Given the description of an element on the screen output the (x, y) to click on. 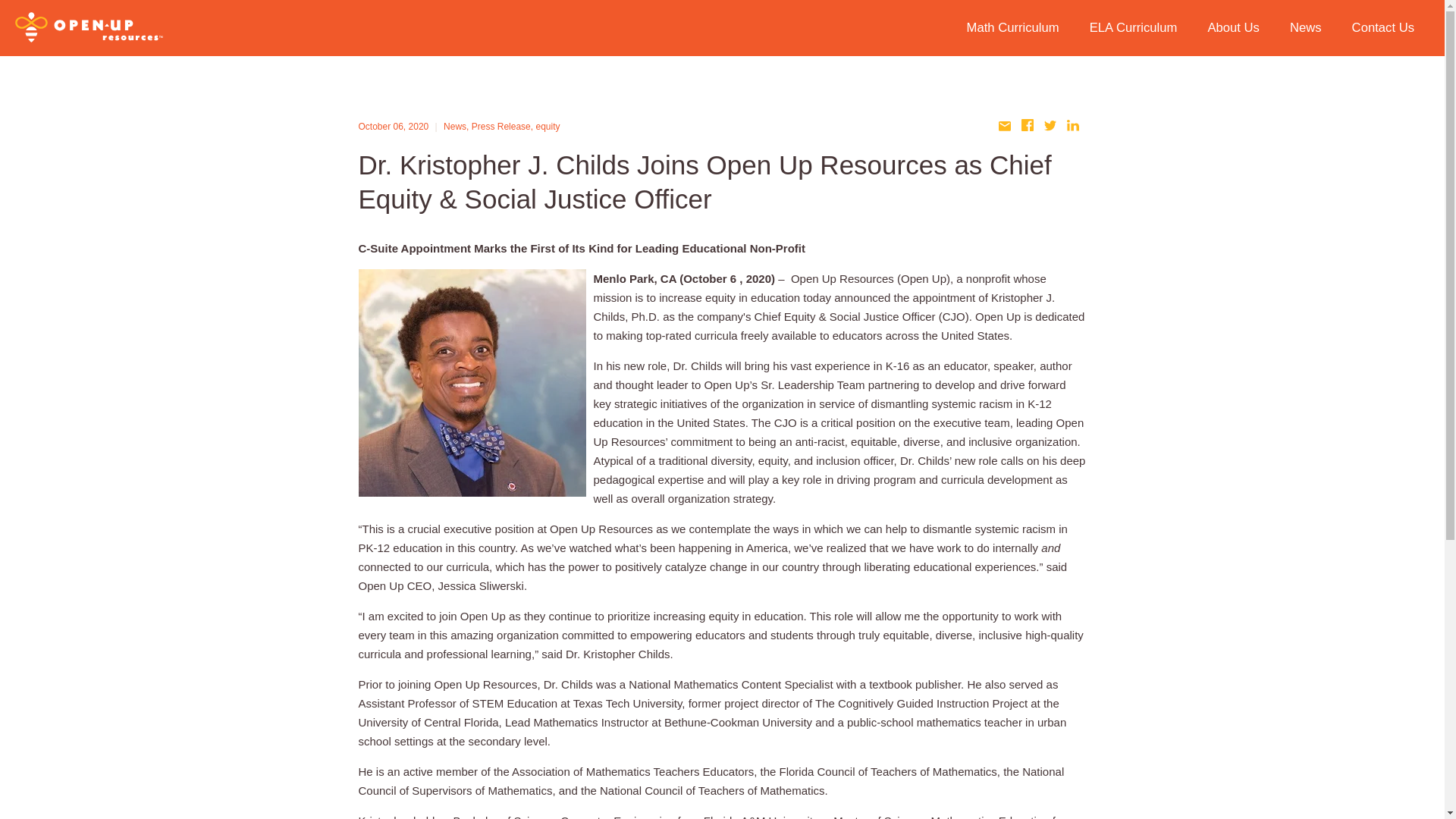
ELA Curriculum (1133, 29)
Press Release (501, 126)
About Us (1233, 29)
linkedin (1074, 126)
News (1305, 29)
Contact Us (1382, 29)
Math Curriculum (1013, 29)
facebook (1029, 126)
email (1005, 126)
News (454, 126)
equity (547, 126)
twitter (1051, 126)
